Given the description of an element on the screen output the (x, y) to click on. 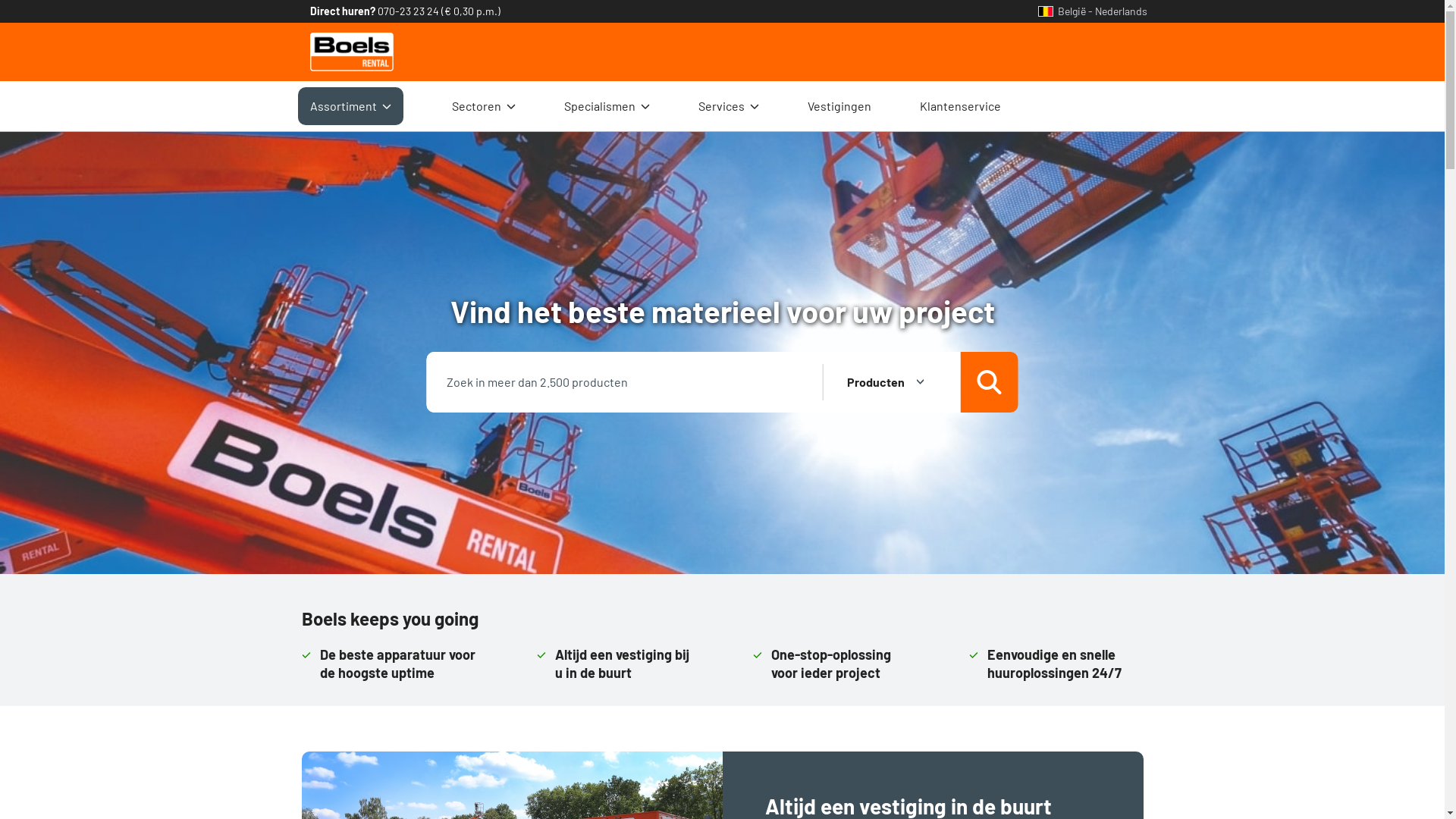
Vestigingen Element type: text (838, 105)
Klantenservice Element type: text (959, 105)
